Given the description of an element on the screen output the (x, y) to click on. 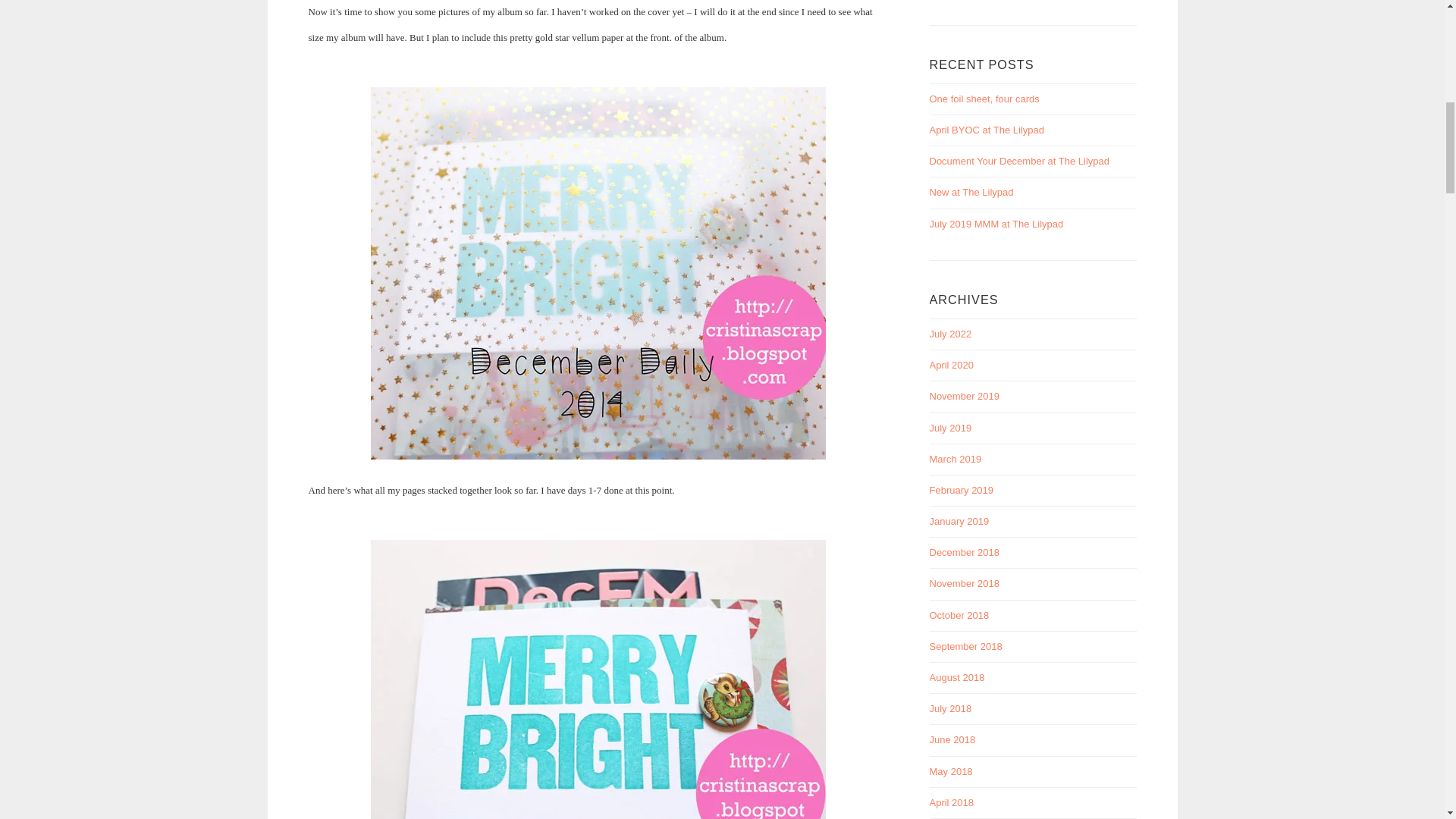
One foil sheet, four cards (984, 98)
January 2019 (960, 521)
July 2022 (951, 333)
April 2020 (952, 365)
July 2019 (951, 427)
December 2018 (965, 552)
July 2019 MMM at The Lilypad (997, 224)
March 2019 (955, 459)
November 2018 (965, 583)
New at The Lilypad (971, 192)
February 2019 (962, 490)
Document Your December at The Lilypad (1019, 161)
April BYOC at The Lilypad (987, 129)
November 2019 (965, 396)
